Given the description of an element on the screen output the (x, y) to click on. 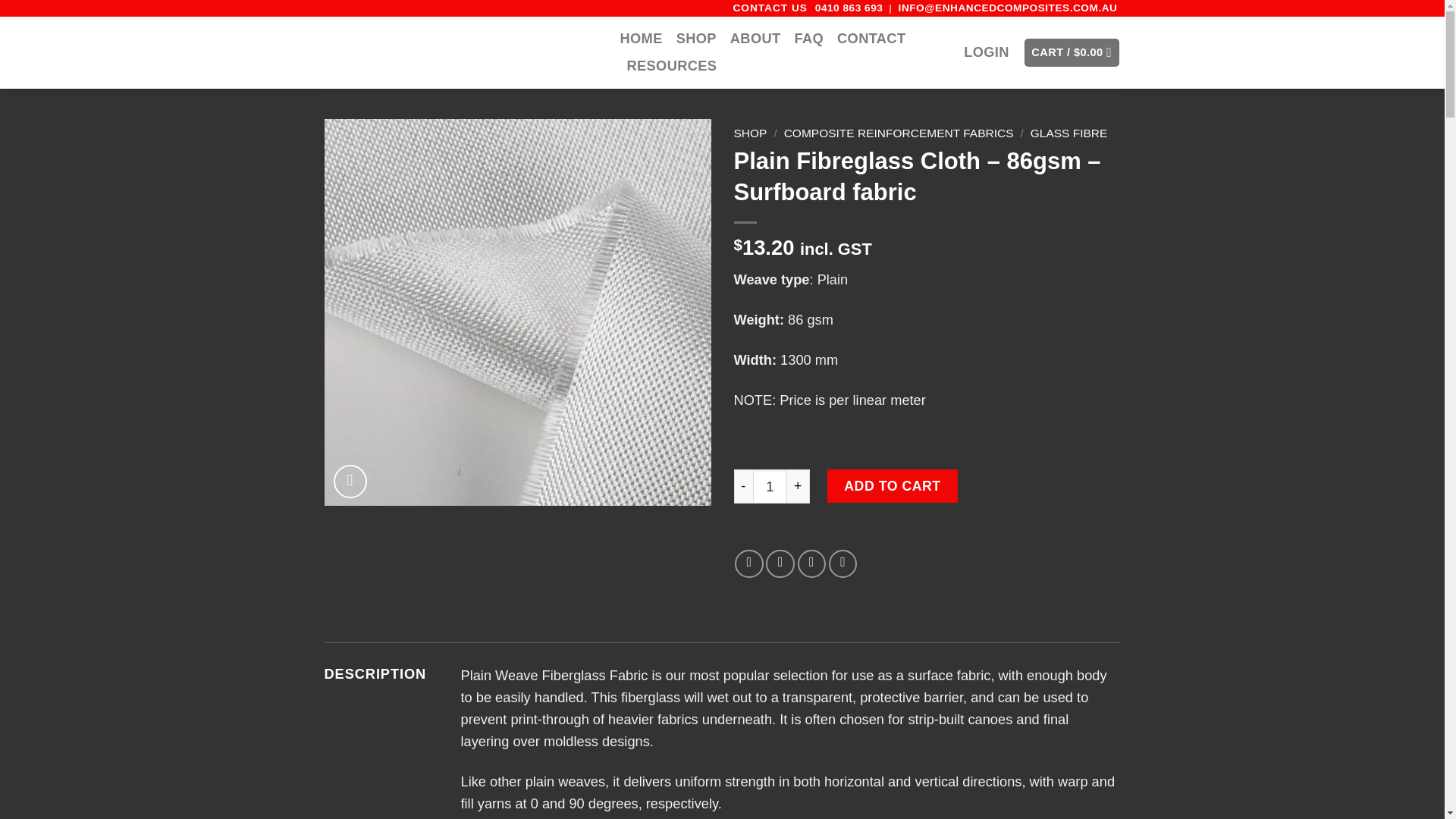
Enhanced Composites (460, 52)
RESOURCES (671, 65)
ABOUT (755, 38)
HOME (641, 38)
FAQ (808, 38)
SHOP (696, 38)
CONTACT (871, 38)
Email to a Friend (812, 563)
Share on Facebook (748, 563)
